Given the description of an element on the screen output the (x, y) to click on. 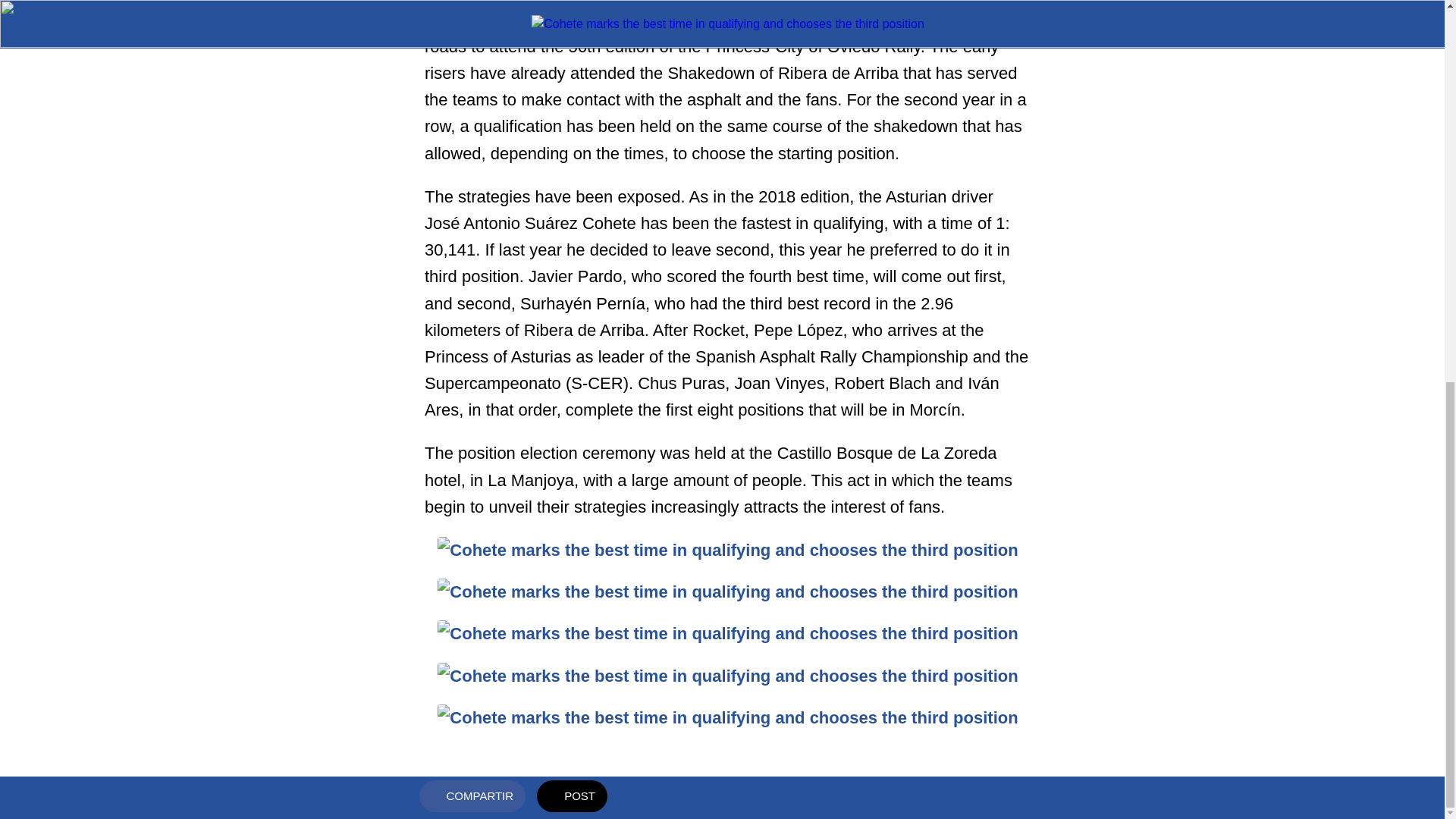
COMPARTIR (472, 82)
POST (572, 82)
